Given the description of an element on the screen output the (x, y) to click on. 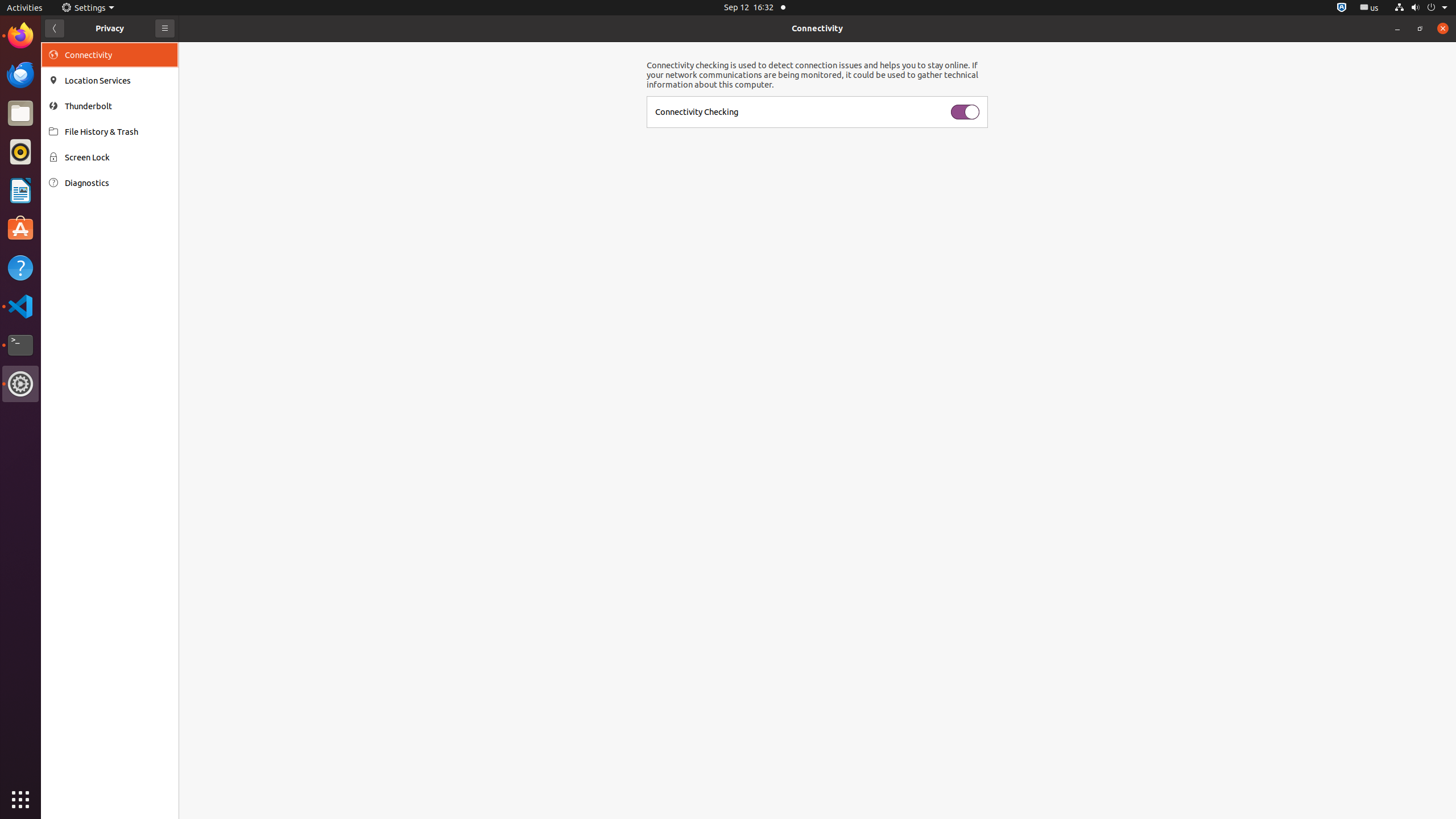
Primary Menu Element type: toggle-button (164, 28)
Restore Element type: push-button (1419, 27)
